Given the description of an element on the screen output the (x, y) to click on. 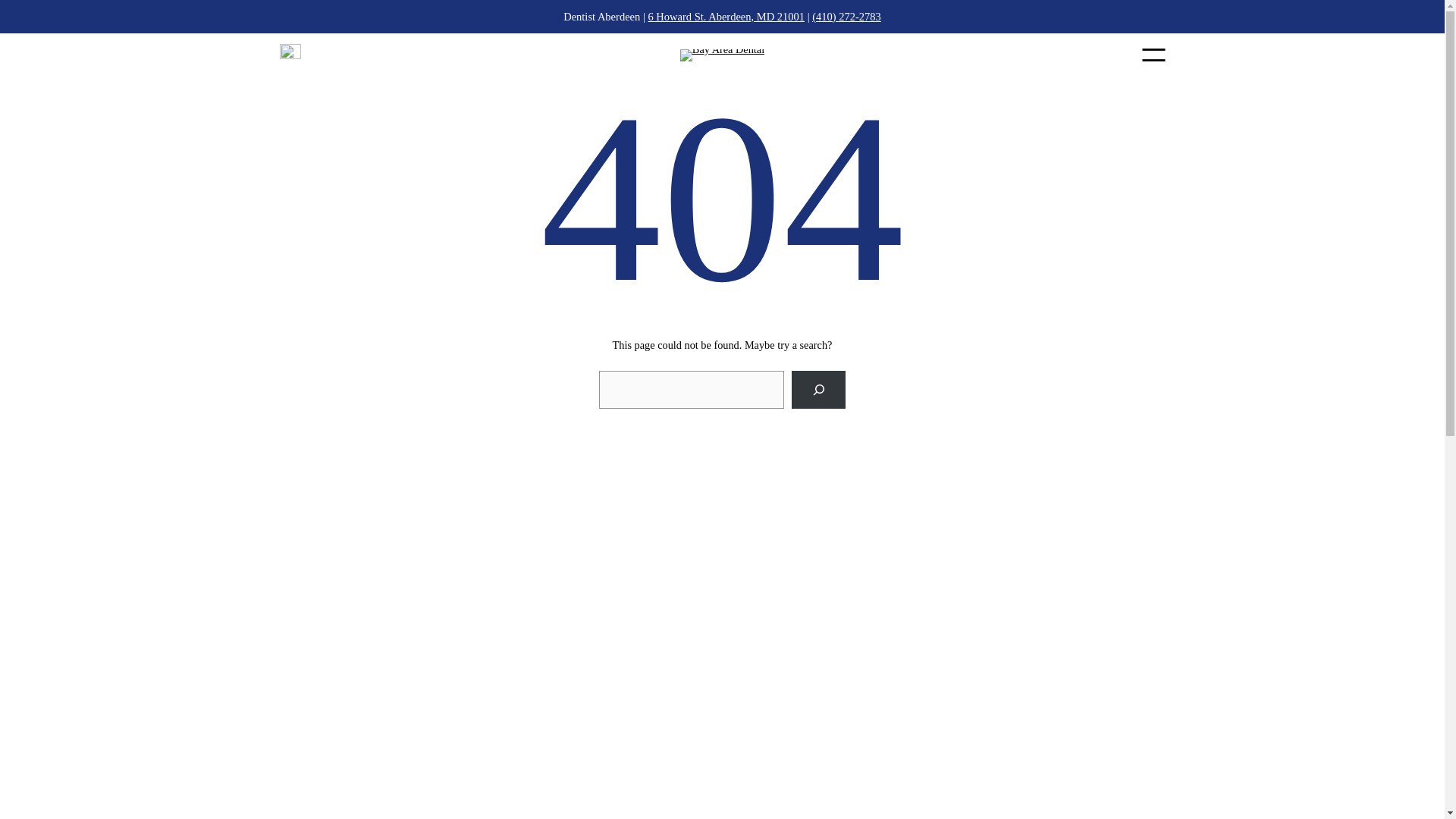
6 Howard St. Aberdeen, MD 21001 (726, 16)
